Given the description of an element on the screen output the (x, y) to click on. 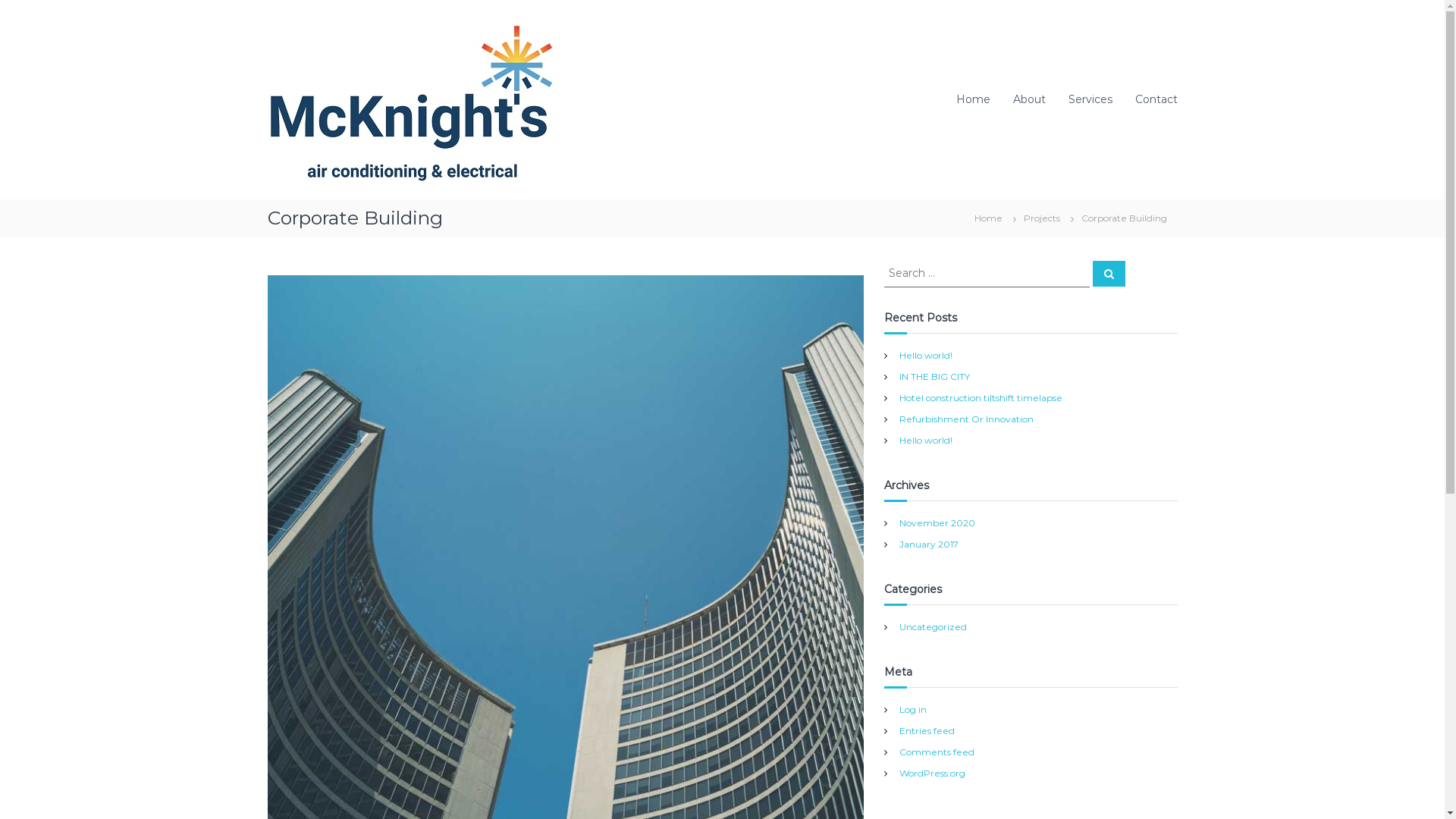
Home Element type: text (972, 99)
Refurbishment Or Innovation Element type: text (966, 417)
Contact Element type: text (1155, 99)
WordPress.org Element type: text (932, 772)
IN THE BIG CITY Element type: text (934, 375)
Hello world! Element type: text (925, 439)
Entries feed Element type: text (926, 730)
Services Element type: text (1089, 99)
About Element type: text (1029, 99)
Log in Element type: text (912, 709)
Uncategorized Element type: text (932, 625)
Comments feed Element type: text (936, 751)
Search Element type: text (1108, 273)
Hello world! Element type: text (925, 354)
November 2020 Element type: text (937, 522)
Hotel construction tiltshift timelapse Element type: text (980, 396)
January 2017 Element type: text (928, 543)
Projects Element type: text (1041, 217)
Home Element type: text (987, 217)
